Given the description of an element on the screen output the (x, y) to click on. 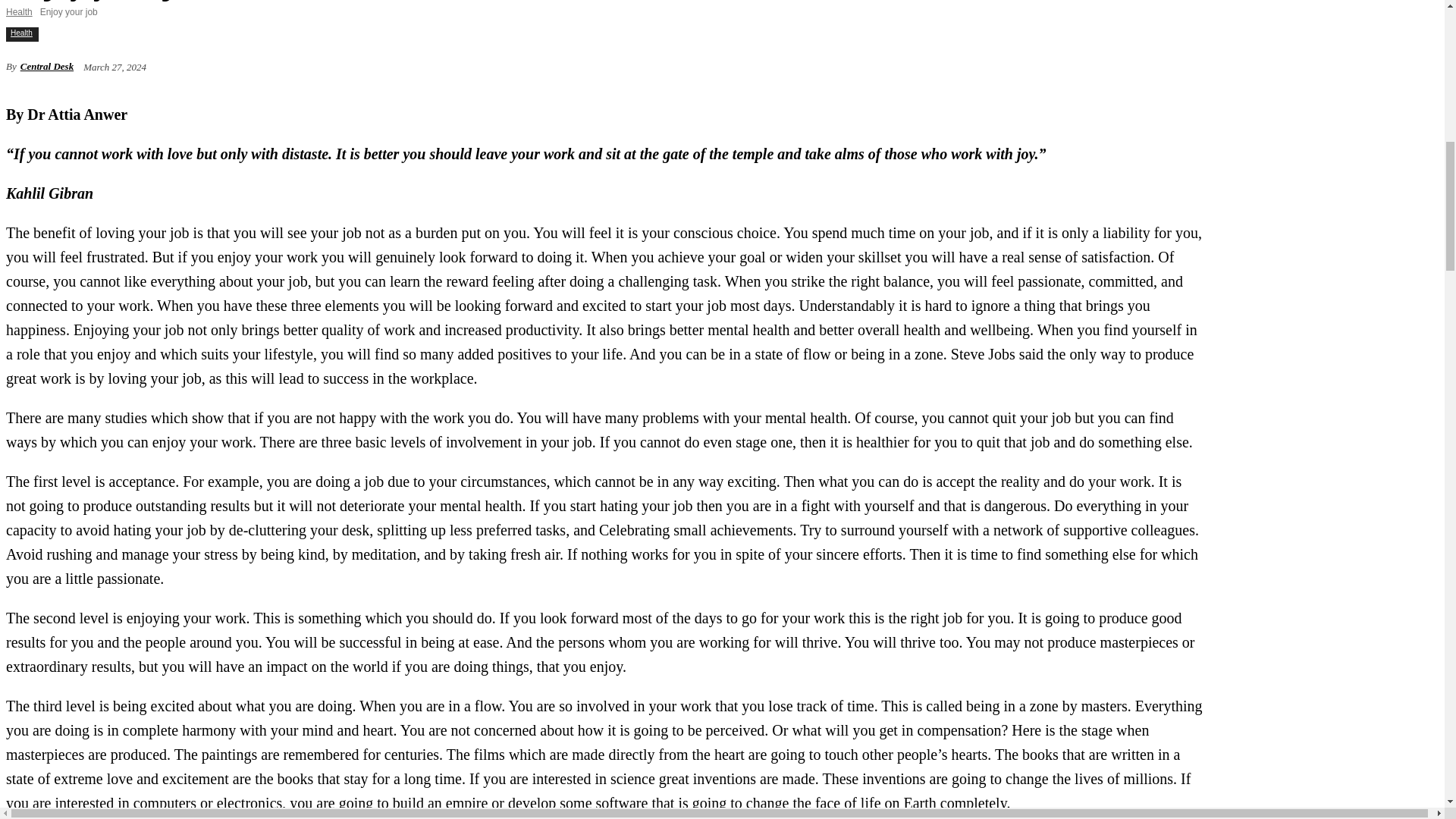
View all posts in Health (18, 11)
